Given the description of an element on the screen output the (x, y) to click on. 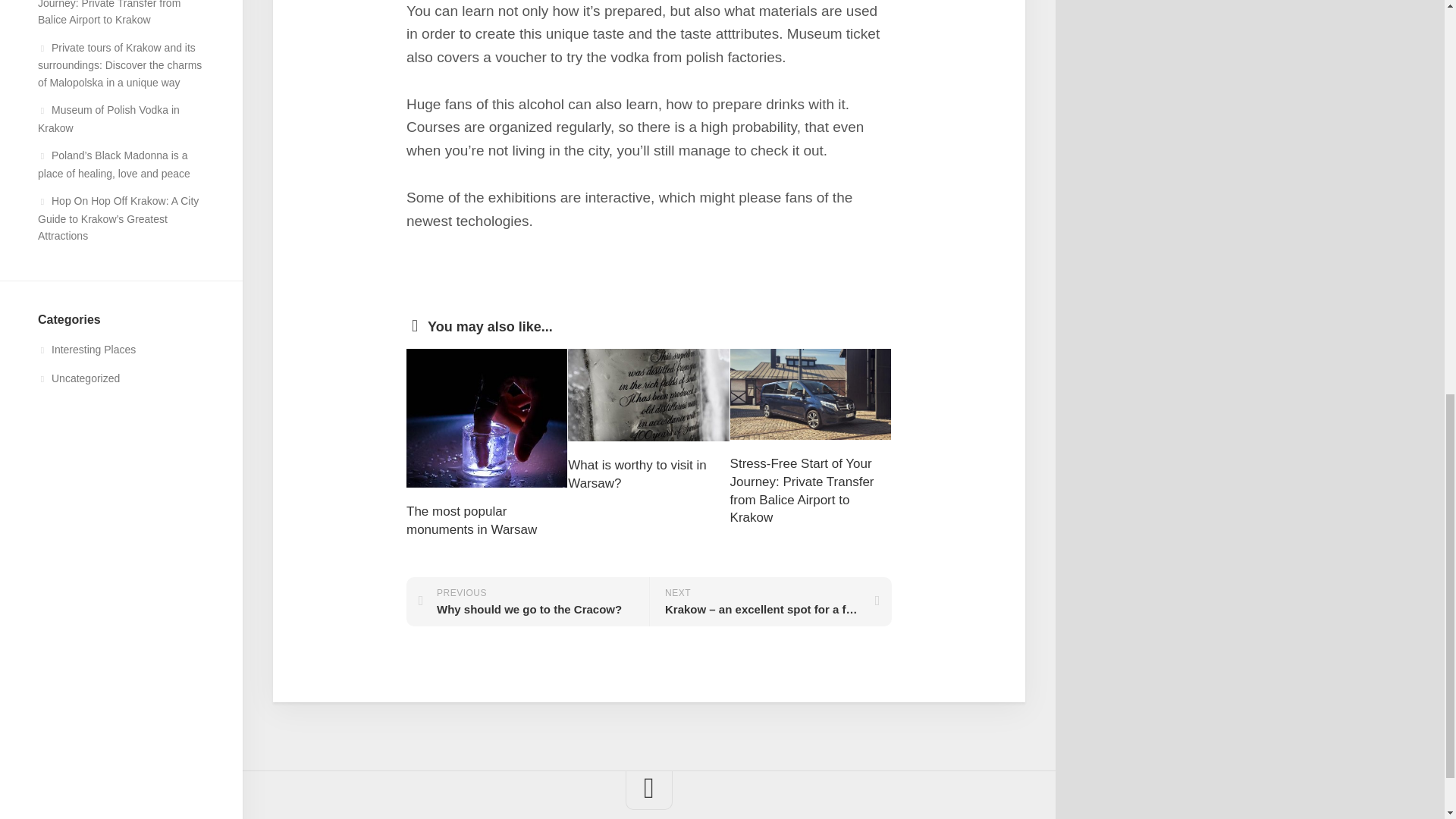
The most popular monuments in Warsaw (471, 520)
What is worthy to visit in Warsaw? (636, 473)
Uncategorized (527, 601)
Museum of Polish Vodka in Krakow (78, 378)
Interesting Places (108, 119)
